Given the description of an element on the screen output the (x, y) to click on. 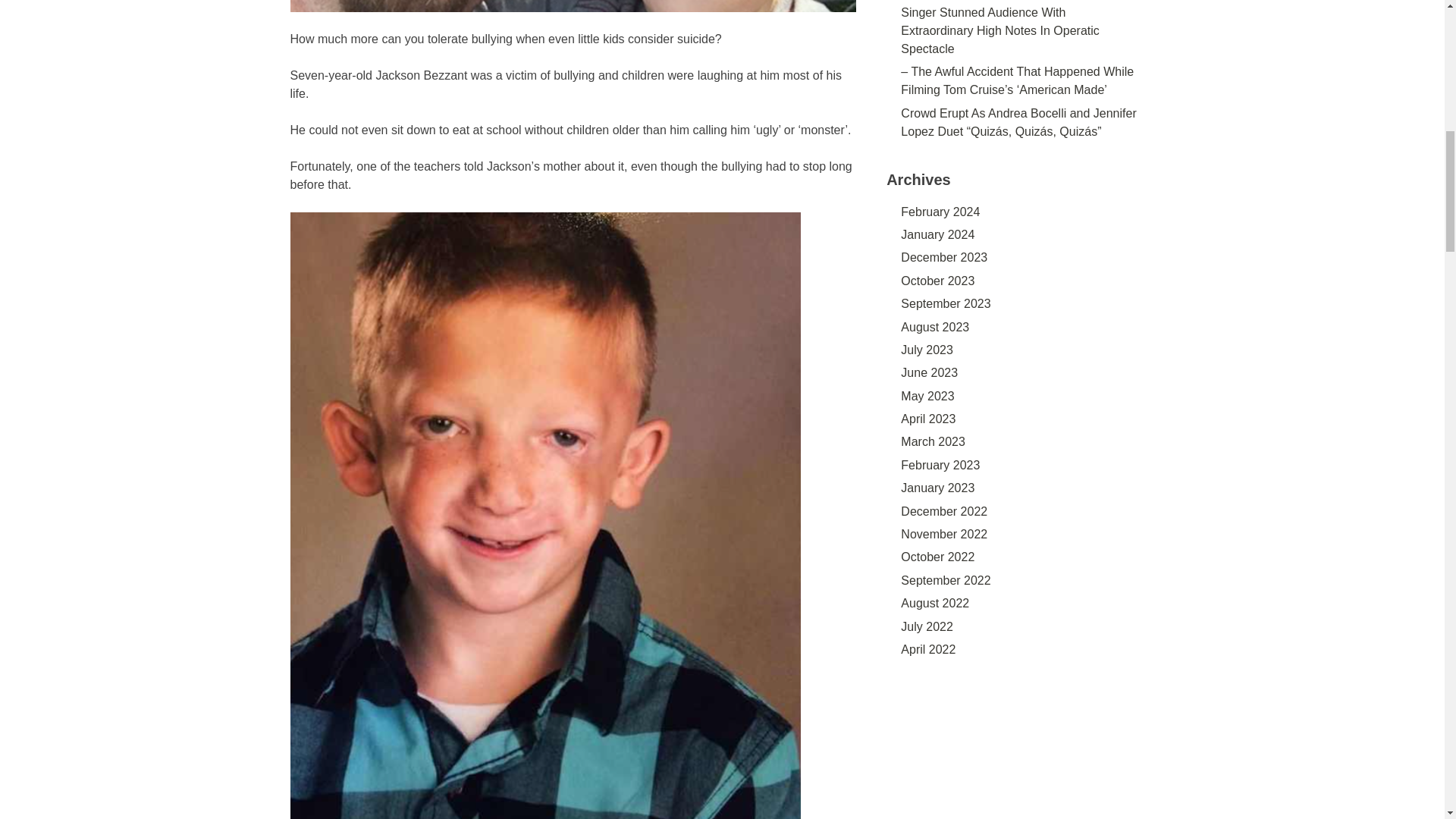
August 2023 (935, 327)
January 2023 (937, 487)
October 2023 (937, 280)
February 2024 (940, 211)
August 2022 (935, 603)
October 2022 (937, 556)
July 2023 (927, 349)
April 2022 (928, 649)
April 2023 (928, 418)
November 2022 (944, 533)
February 2023 (940, 464)
September 2022 (945, 580)
July 2022 (927, 626)
March 2023 (933, 440)
